Given the description of an element on the screen output the (x, y) to click on. 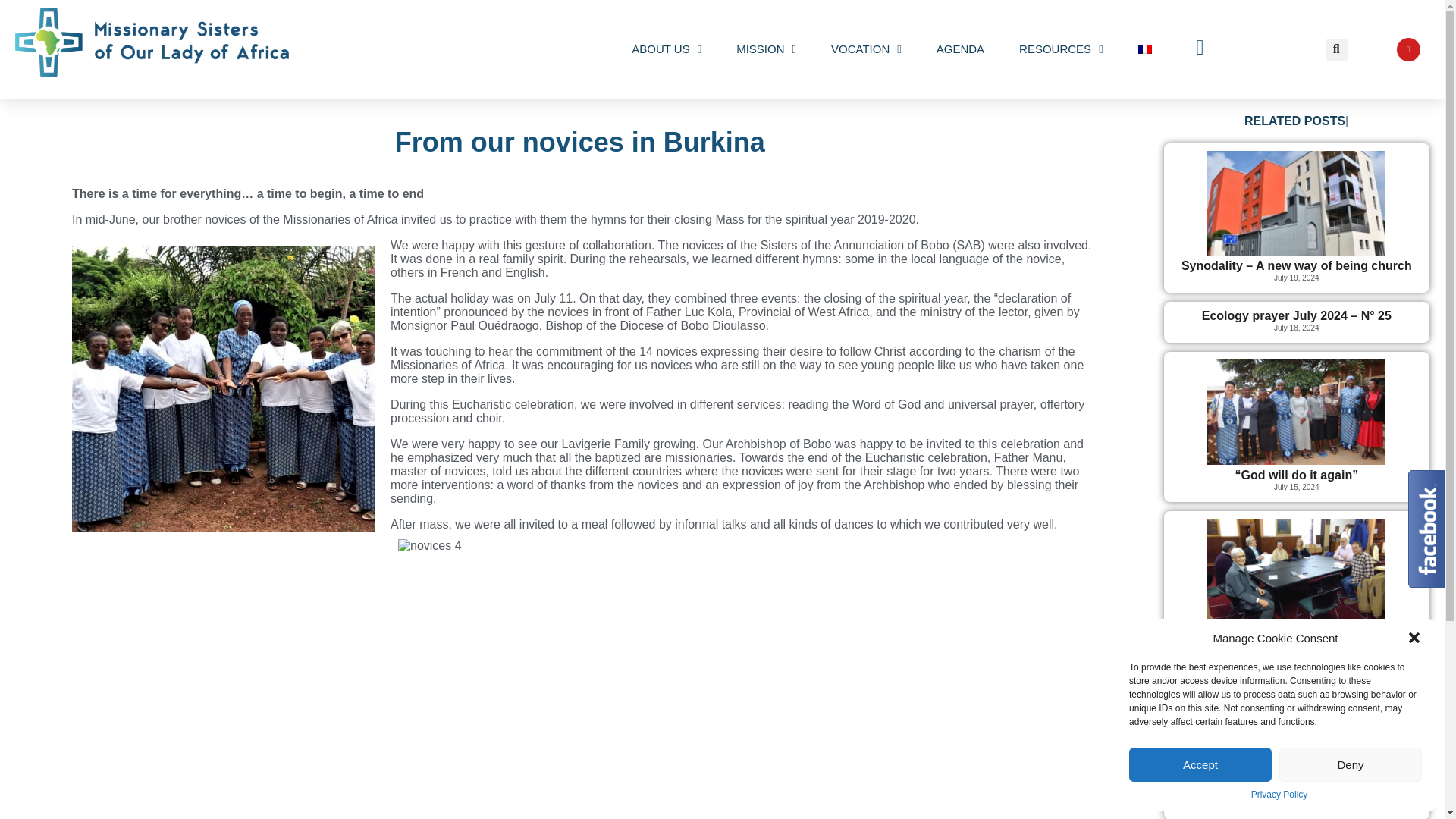
Privacy Policy (1278, 794)
MISSION (765, 49)
ABOUT US (665, 49)
Deny (1350, 764)
Accept (1200, 764)
